Given the description of an element on the screen output the (x, y) to click on. 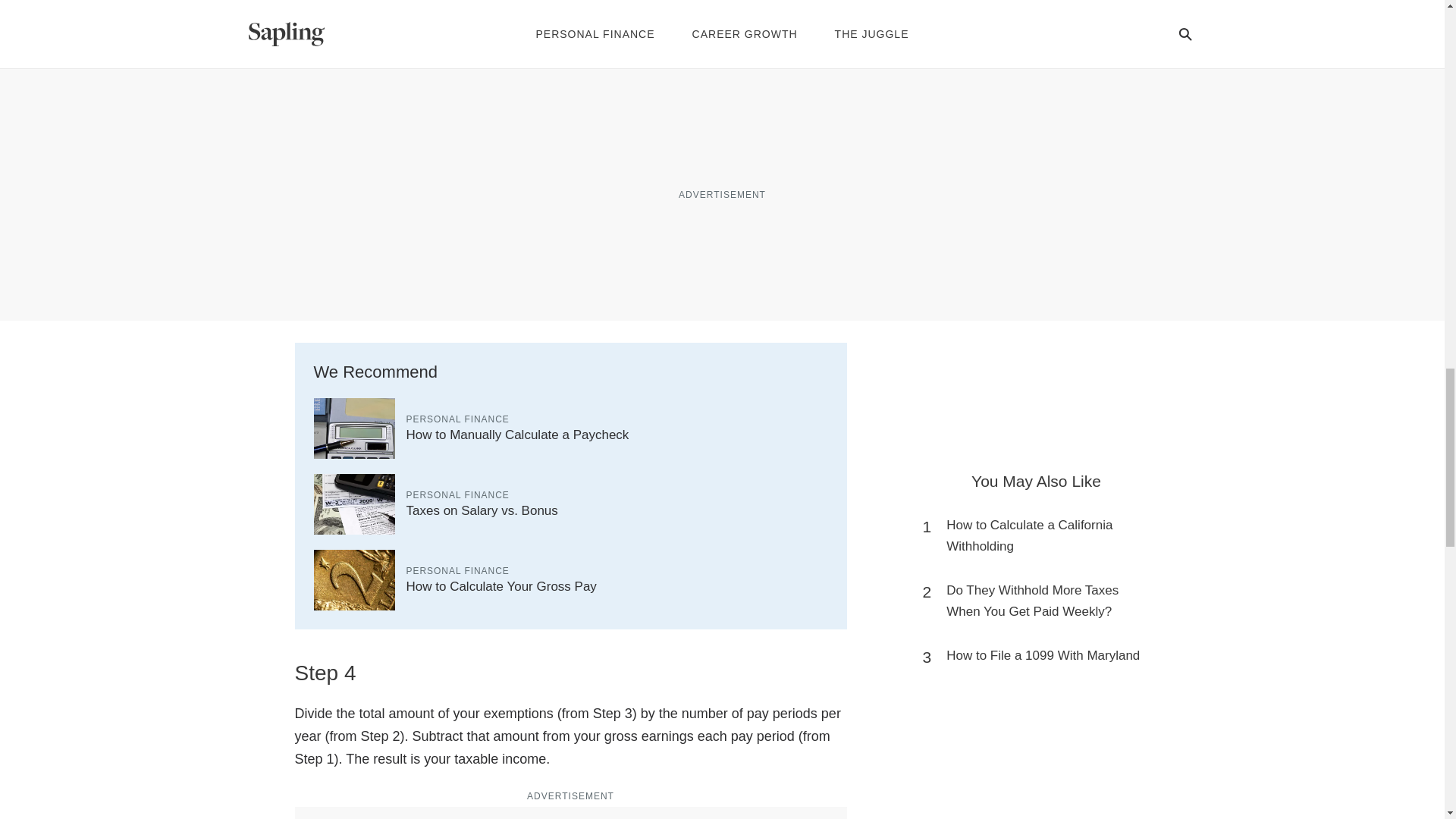
How to Calculate a California Withholding (1043, 536)
How to Calculate Your Gross Pay (501, 586)
How to File a 1099 With Maryland (1043, 655)
Taxes on Salary vs. Bonus (481, 510)
How to Manually Calculate a Paycheck (517, 434)
Do They Withhold More Taxes When You Get Paid Weekly? (1043, 600)
3rd party ad content (1035, 91)
